Given the description of an element on the screen output the (x, y) to click on. 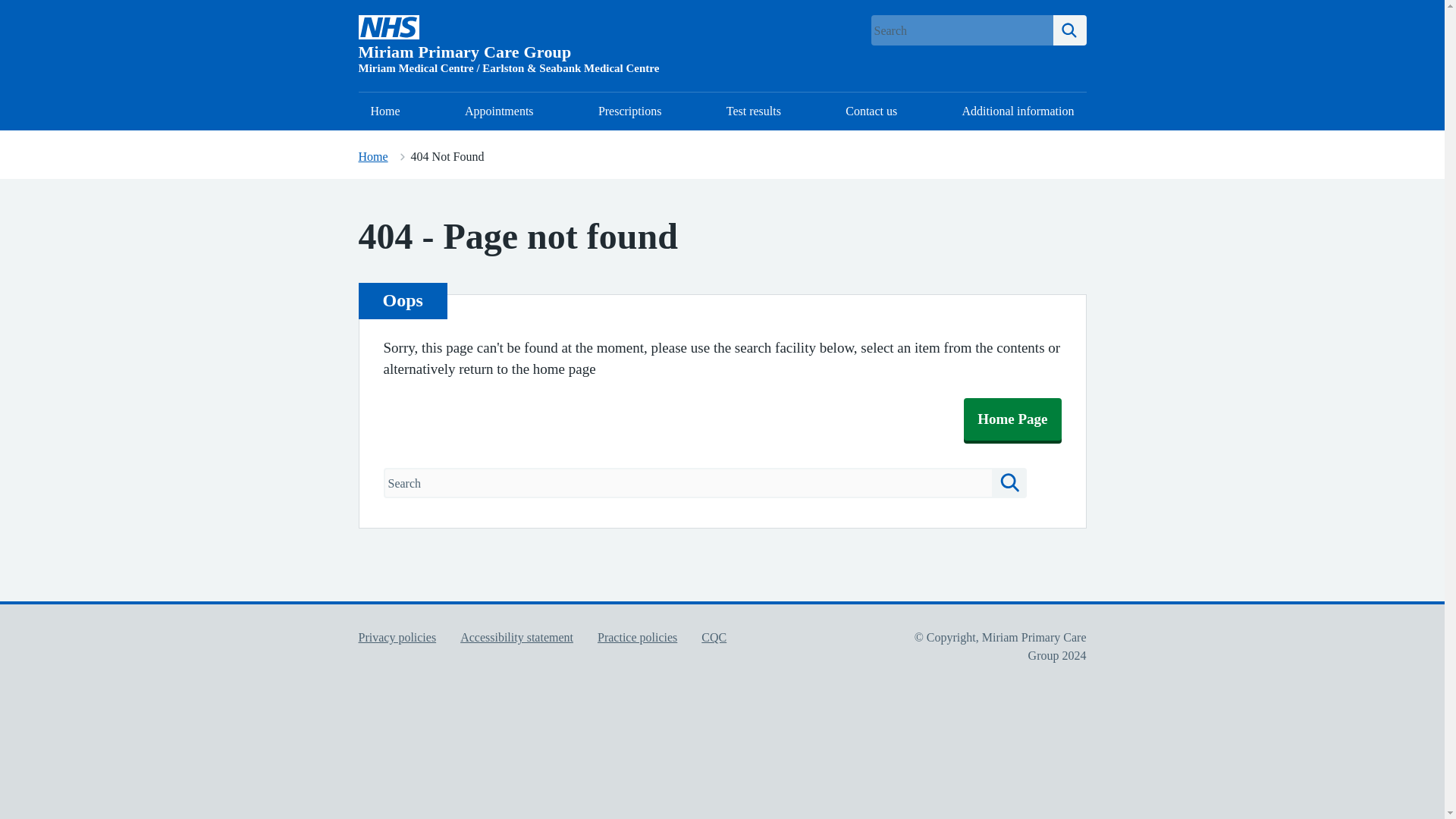
Accessibility statement (516, 636)
Appointments (499, 111)
NHS Logo (388, 27)
Test results (753, 111)
Prescriptions (630, 111)
Search (1009, 482)
Home (385, 111)
Home Page (1012, 419)
CQC (713, 636)
Search (1069, 30)
